Given the description of an element on the screen output the (x, y) to click on. 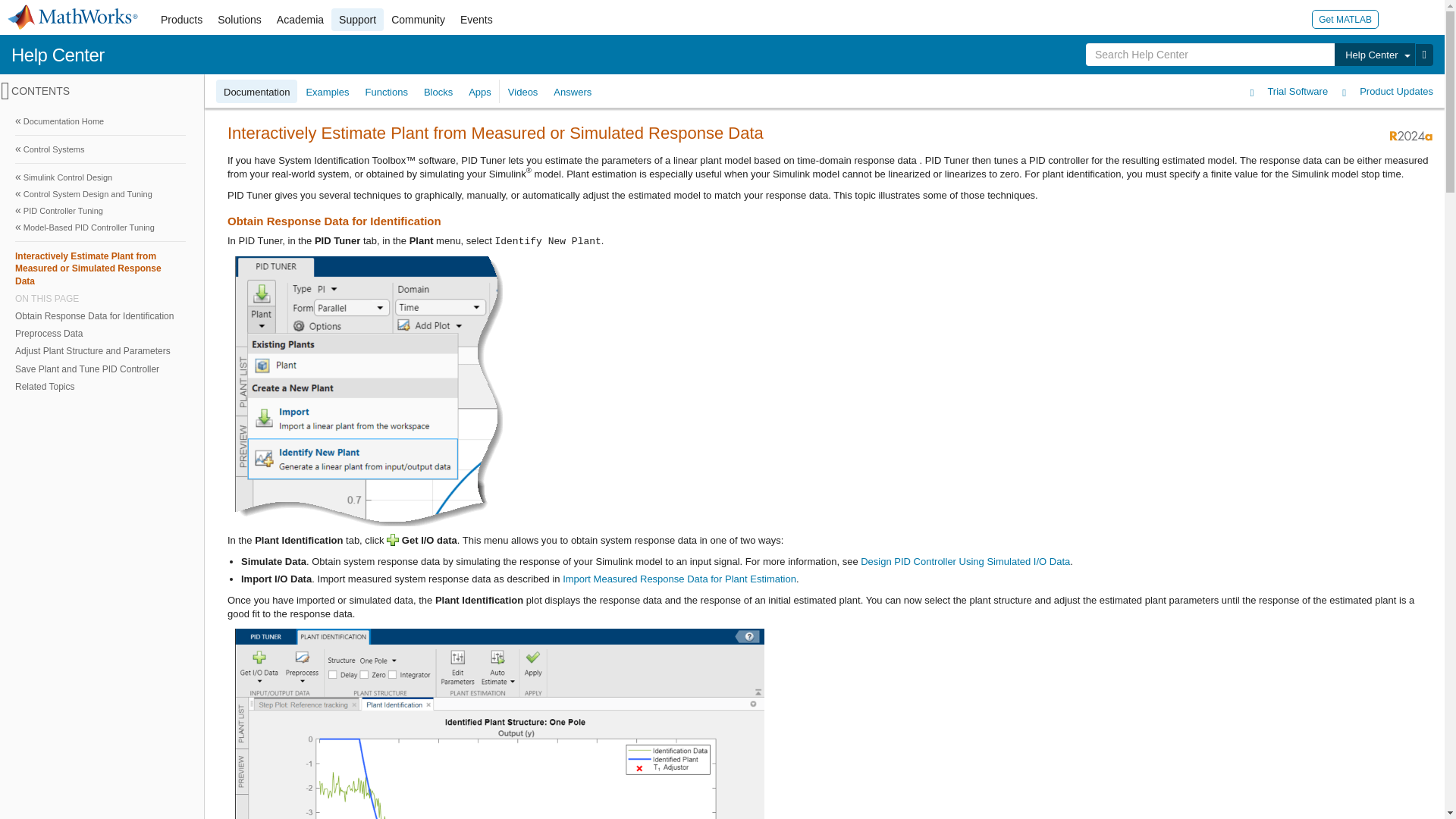
Control System Design and Tuning (100, 193)
Products (180, 19)
Control Systems (100, 149)
Documentation Home (100, 121)
Community (418, 19)
Support (357, 19)
Help Center (1374, 54)
Events (476, 19)
Academia (300, 19)
ON THIS PAGE (100, 298)
Sign In to Your MathWorks Account (1396, 18)
Model-Based PID Controller Tuning (100, 227)
